Given the description of an element on the screen output the (x, y) to click on. 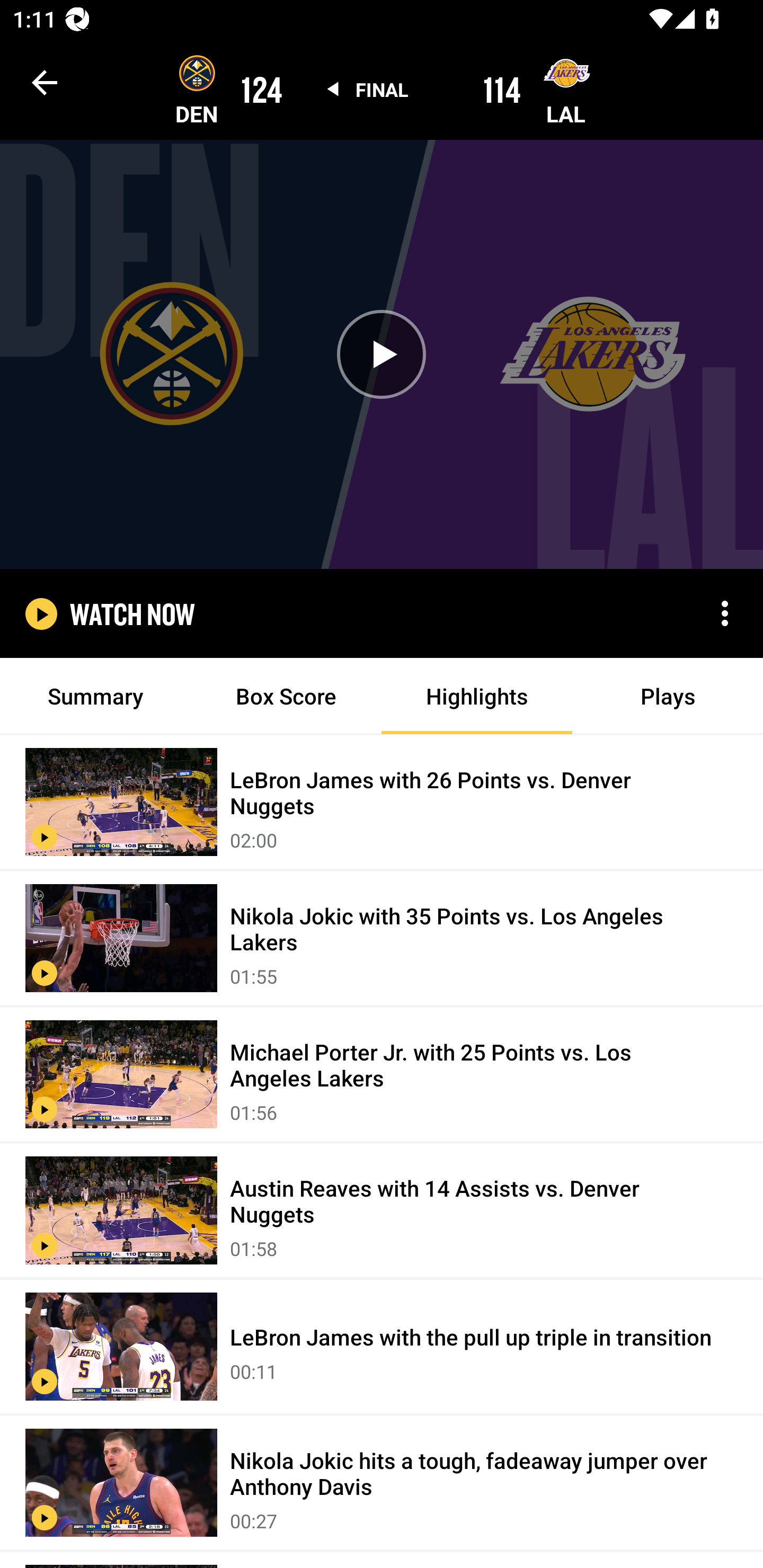
Navigate up (44, 82)
More options (724, 613)
WATCH NOW (132, 613)
Summary (95, 695)
Box Score (285, 695)
Plays (667, 695)
